Given the description of an element on the screen output the (x, y) to click on. 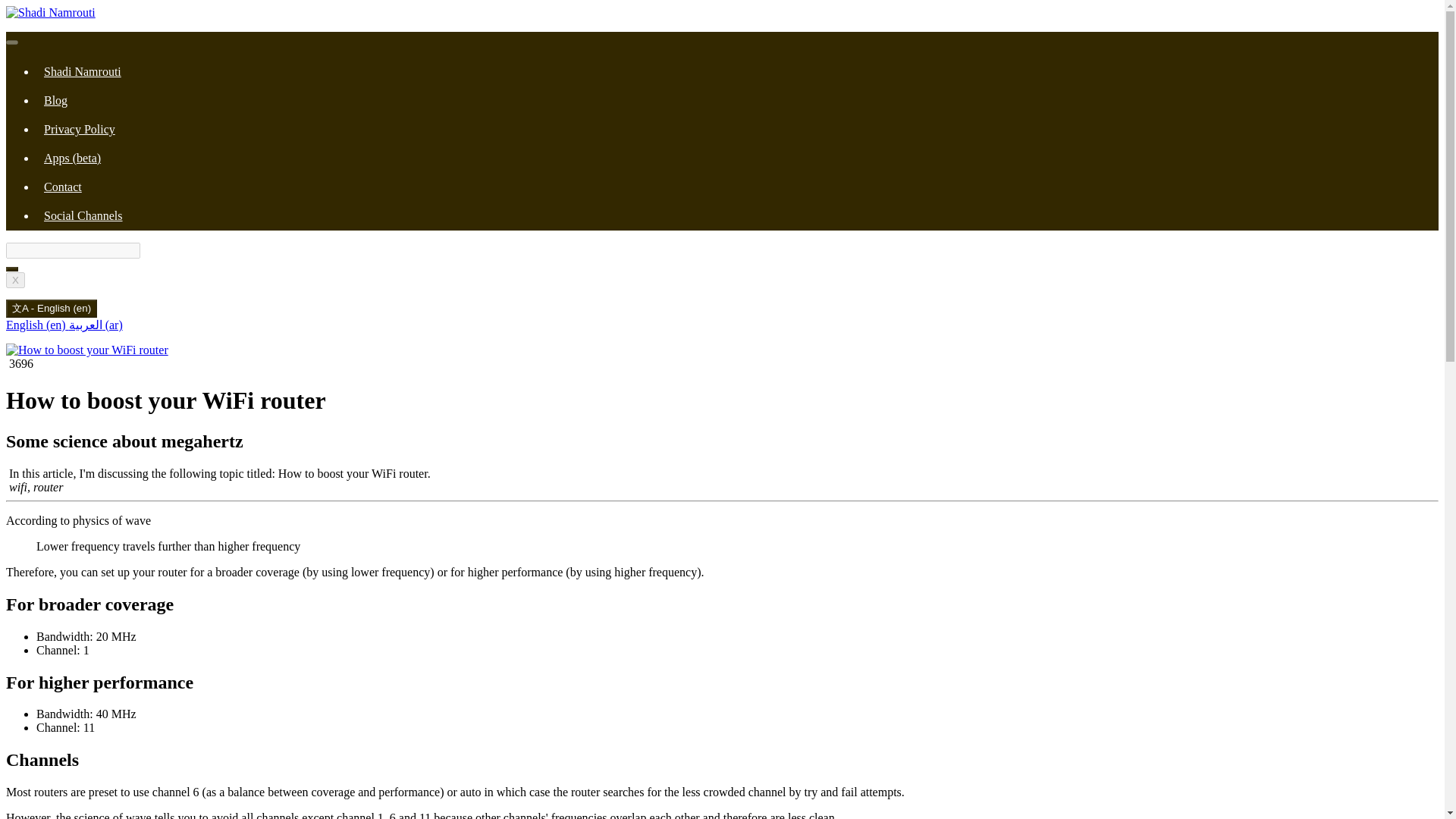
Shadi Namrouti (81, 71)
How to boost your WiFi router (86, 350)
Privacy Policy (79, 128)
Blog (54, 100)
Contact (62, 186)
Social Channels (82, 215)
X (14, 279)
